Given the description of an element on the screen output the (x, y) to click on. 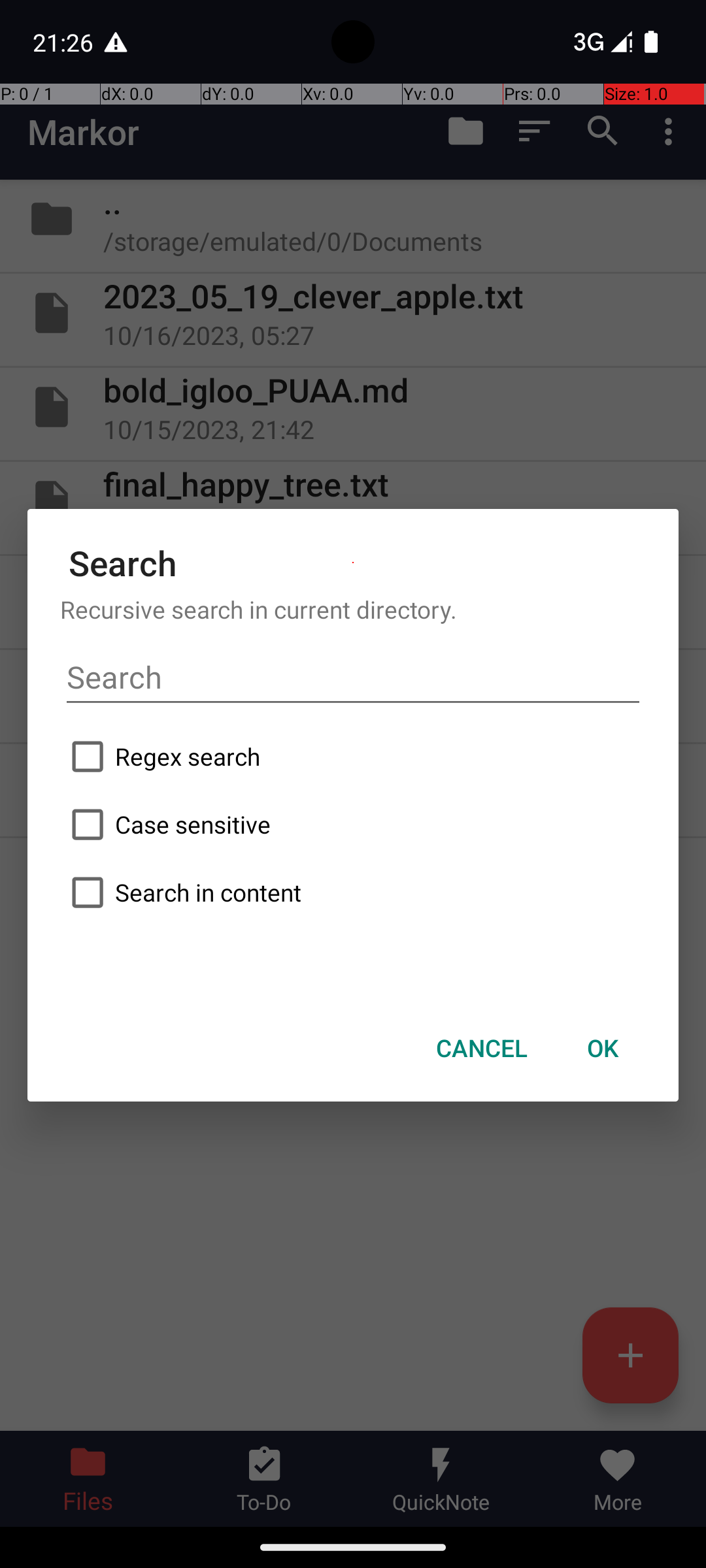
Recursive search in current directory. Element type: android.widget.TextView (352, 608)
Regex search Element type: android.widget.CheckBox (352, 756)
Case sensitive Element type: android.widget.CheckBox (352, 824)
Search in content Element type: android.widget.CheckBox (352, 892)
21:26 Element type: android.widget.TextView (64, 41)
